Given the description of an element on the screen output the (x, y) to click on. 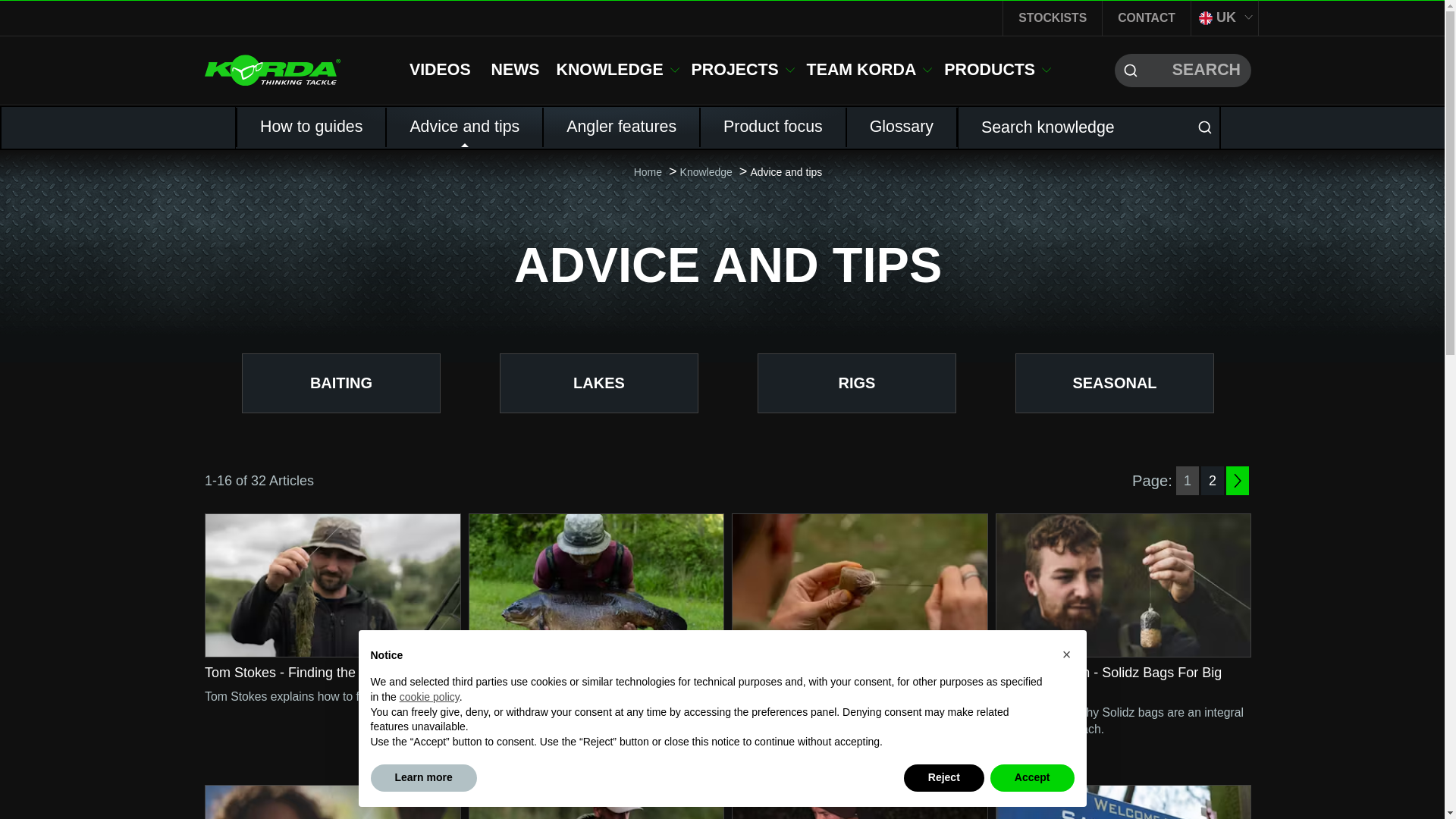
PRODUCTS (996, 69)
News (515, 69)
Team Korda (868, 69)
KNOWLEDGE (617, 69)
Knowledge (617, 69)
Videos (440, 69)
Projects (742, 69)
CONTACT (1146, 18)
NEWS (515, 69)
TEAM KORDA (868, 69)
